Given the description of an element on the screen output the (x, y) to click on. 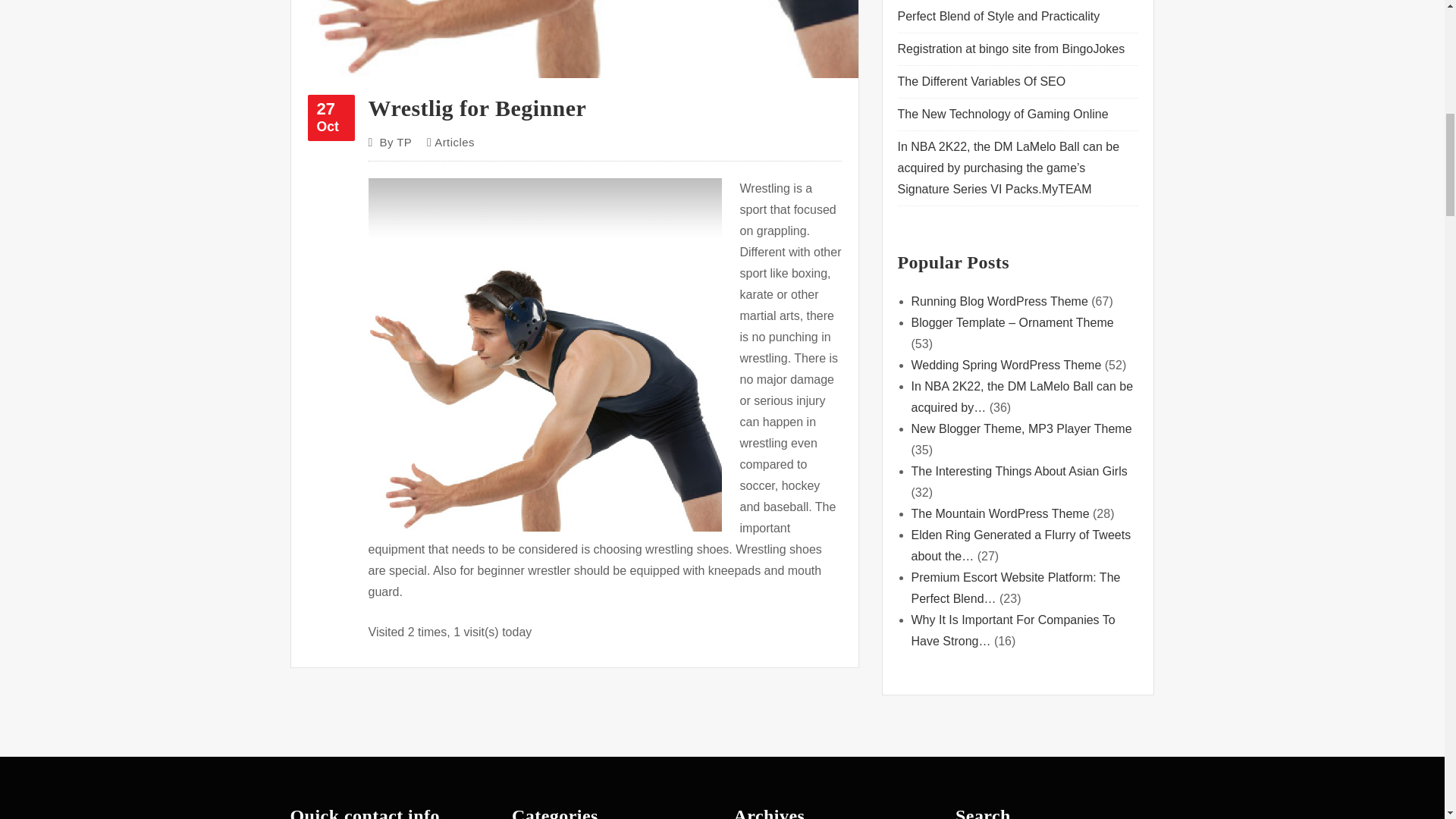
Articles (453, 142)
The New Technology of Gaming Online (1003, 113)
The Mountain WordPress Theme (1000, 513)
New Blogger Theme, MP3 Player Theme (1021, 428)
Wedding Spring WordPress Theme (1006, 364)
The Different Variables Of SEO (330, 117)
By TP (981, 81)
Registration at bingo site from BingoJokes  (395, 142)
